Given the description of an element on the screen output the (x, y) to click on. 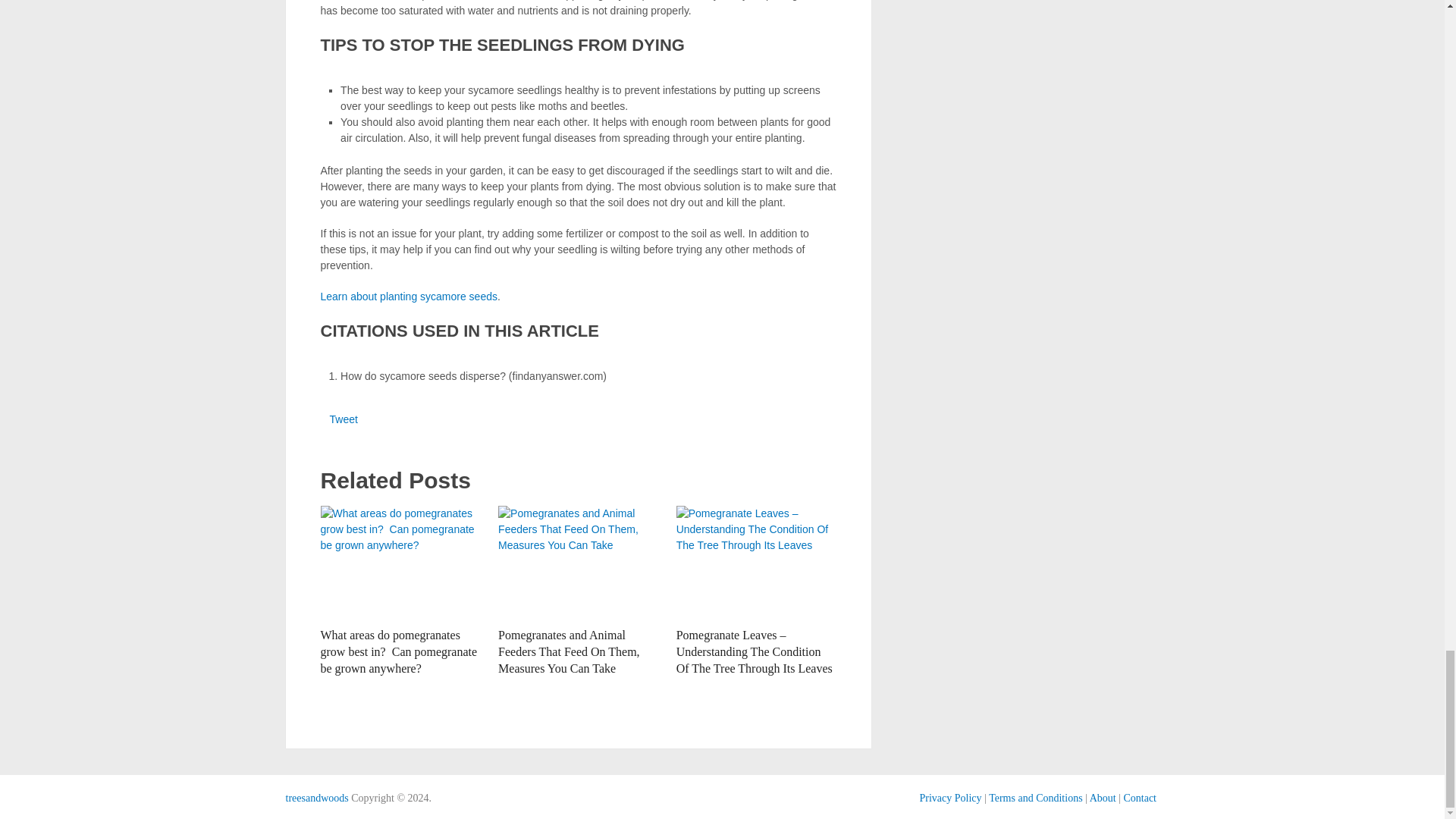
Tweet (342, 419)
Learn about planting sycamore seeds (408, 296)
